Given the description of an element on the screen output the (x, y) to click on. 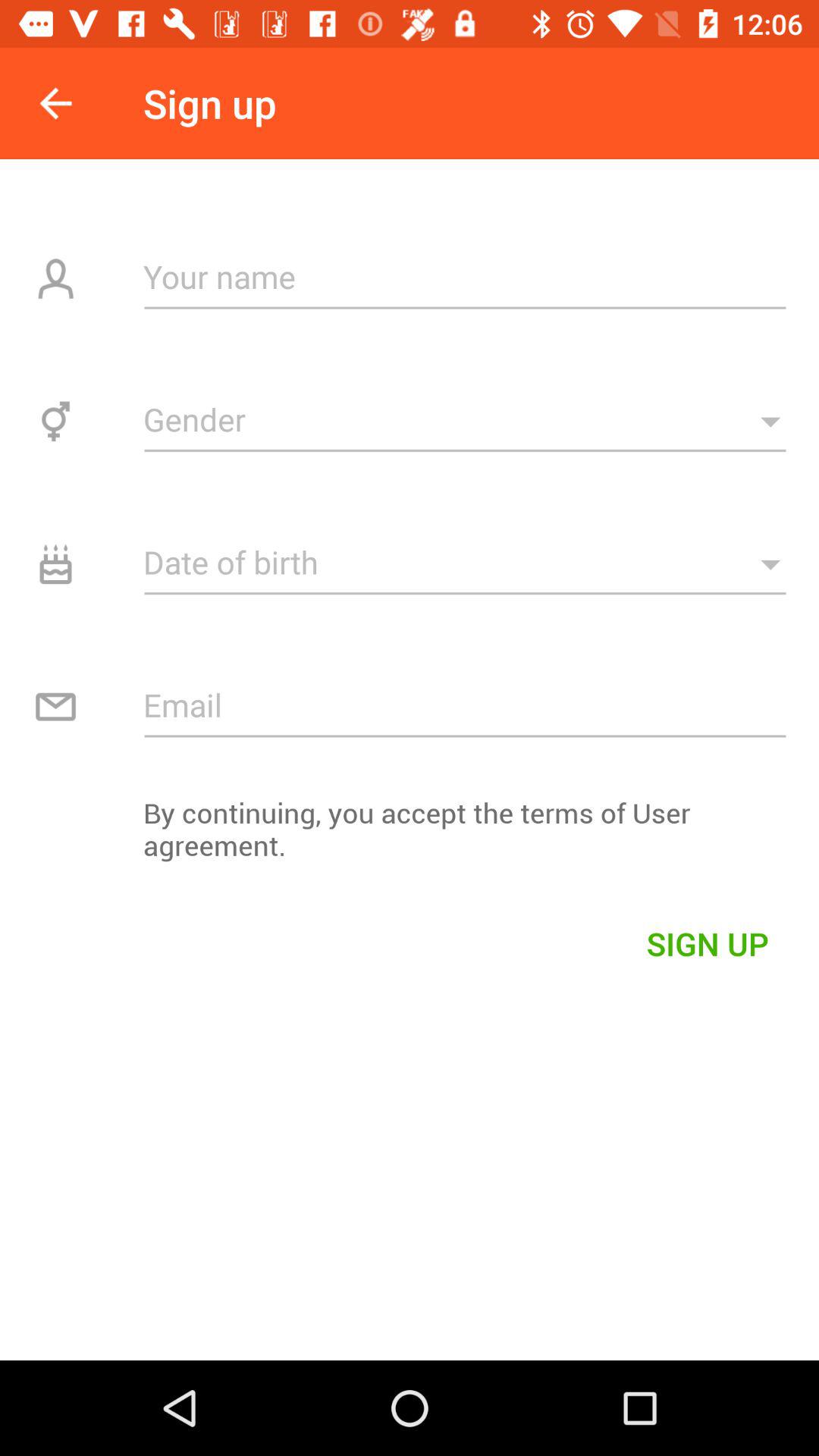
click the by continuing you item (409, 836)
